Given the description of an element on the screen output the (x, y) to click on. 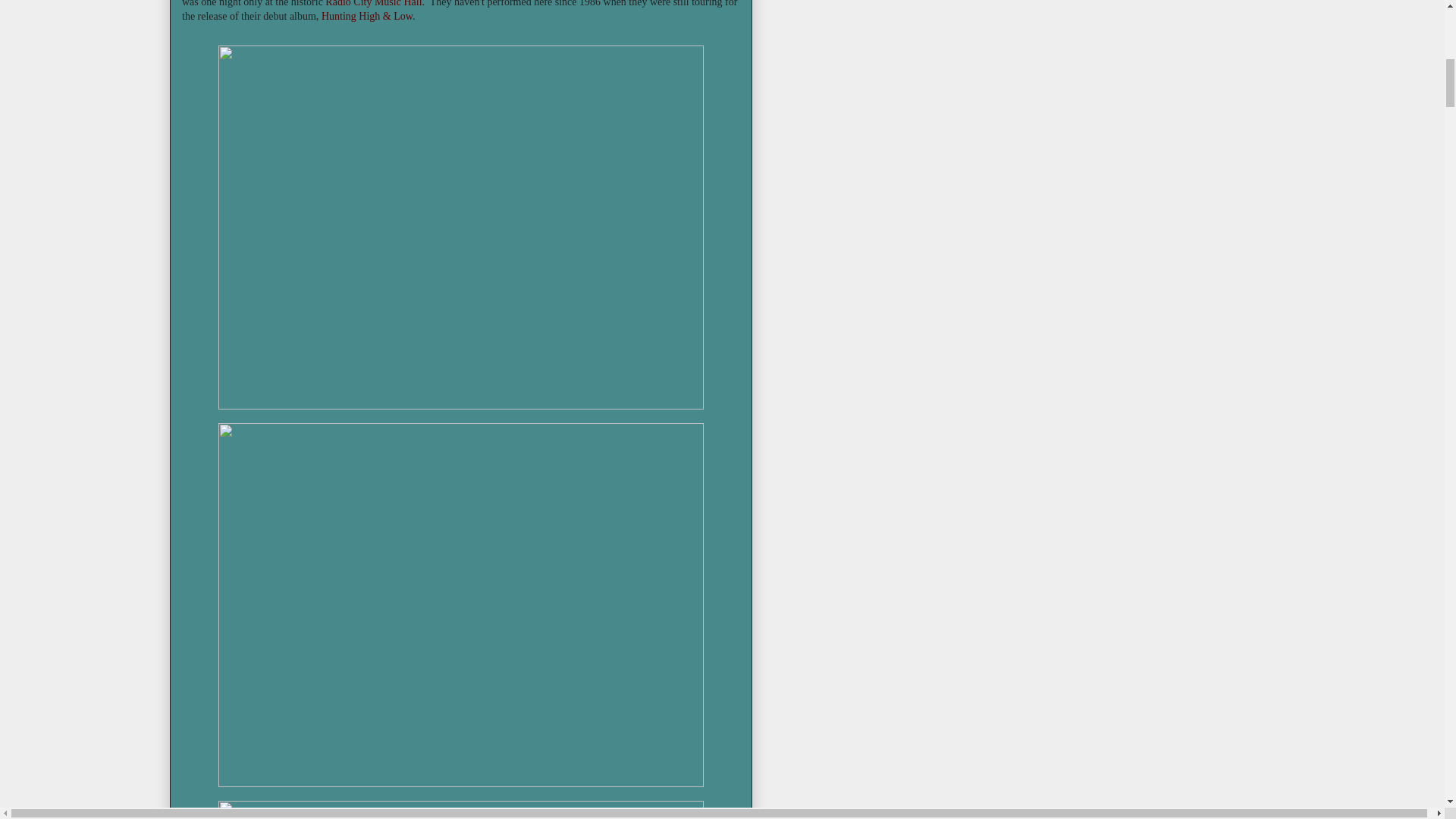
Radio City Music Hall (373, 3)
